Given the description of an element on the screen output the (x, y) to click on. 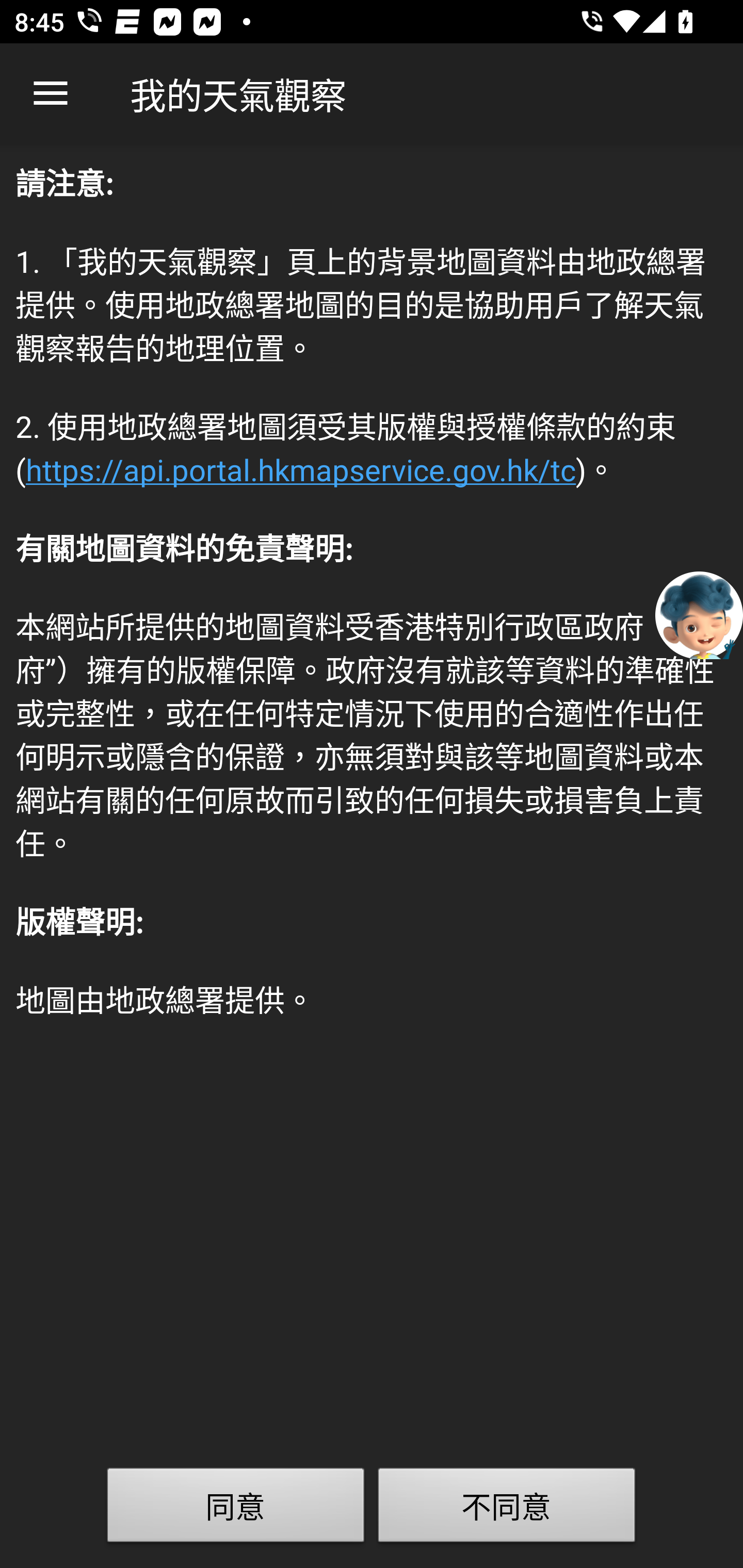
向上瀏覽 (50, 93)
聊天機械人 (699, 614)
同意 (235, 1509)
不同意 (506, 1509)
